Given the description of an element on the screen output the (x, y) to click on. 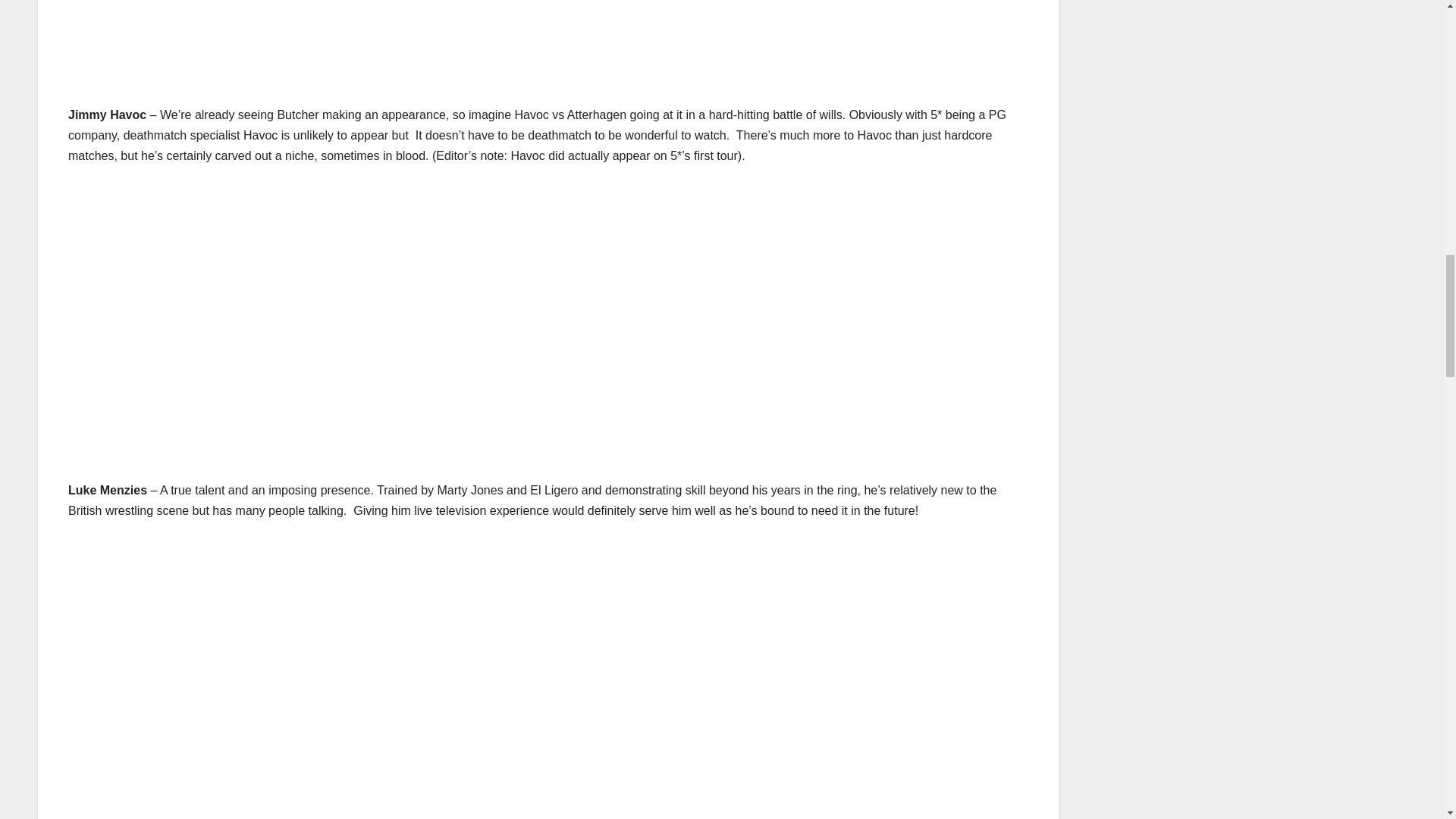
RISE: Saxon Huxley vs Luke Menzies. Full Match! (310, 672)
